Given the description of an element on the screen output the (x, y) to click on. 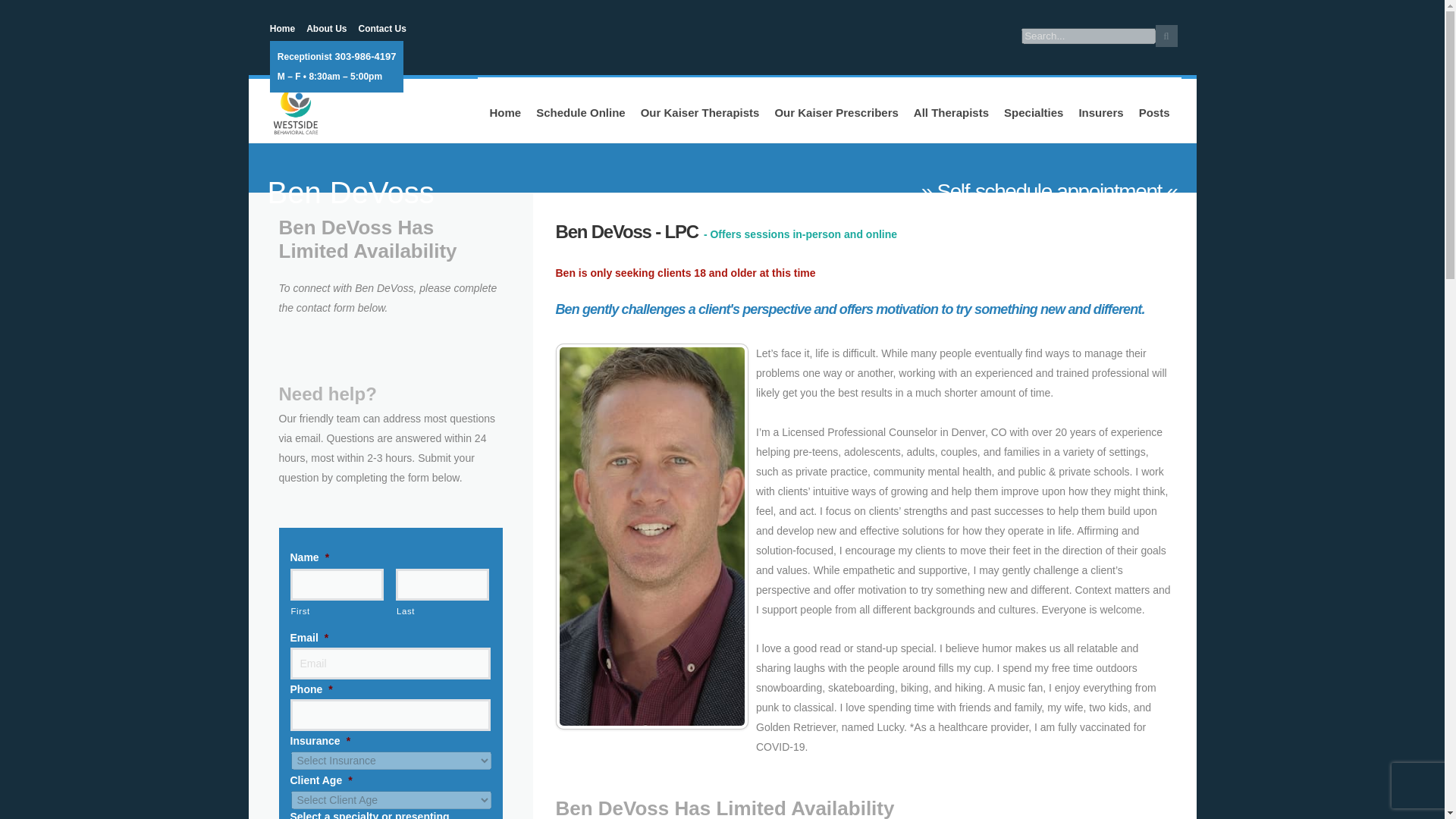
Insurers (1100, 110)
Our Kaiser Prescribers (835, 110)
Specialties (1033, 110)
303-986-4197 (363, 56)
Home (282, 28)
Contact Us (382, 28)
About Us (325, 28)
All Therapists (951, 110)
Schedule Online (580, 110)
Our Kaiser Therapists (699, 110)
